Given the description of an element on the screen output the (x, y) to click on. 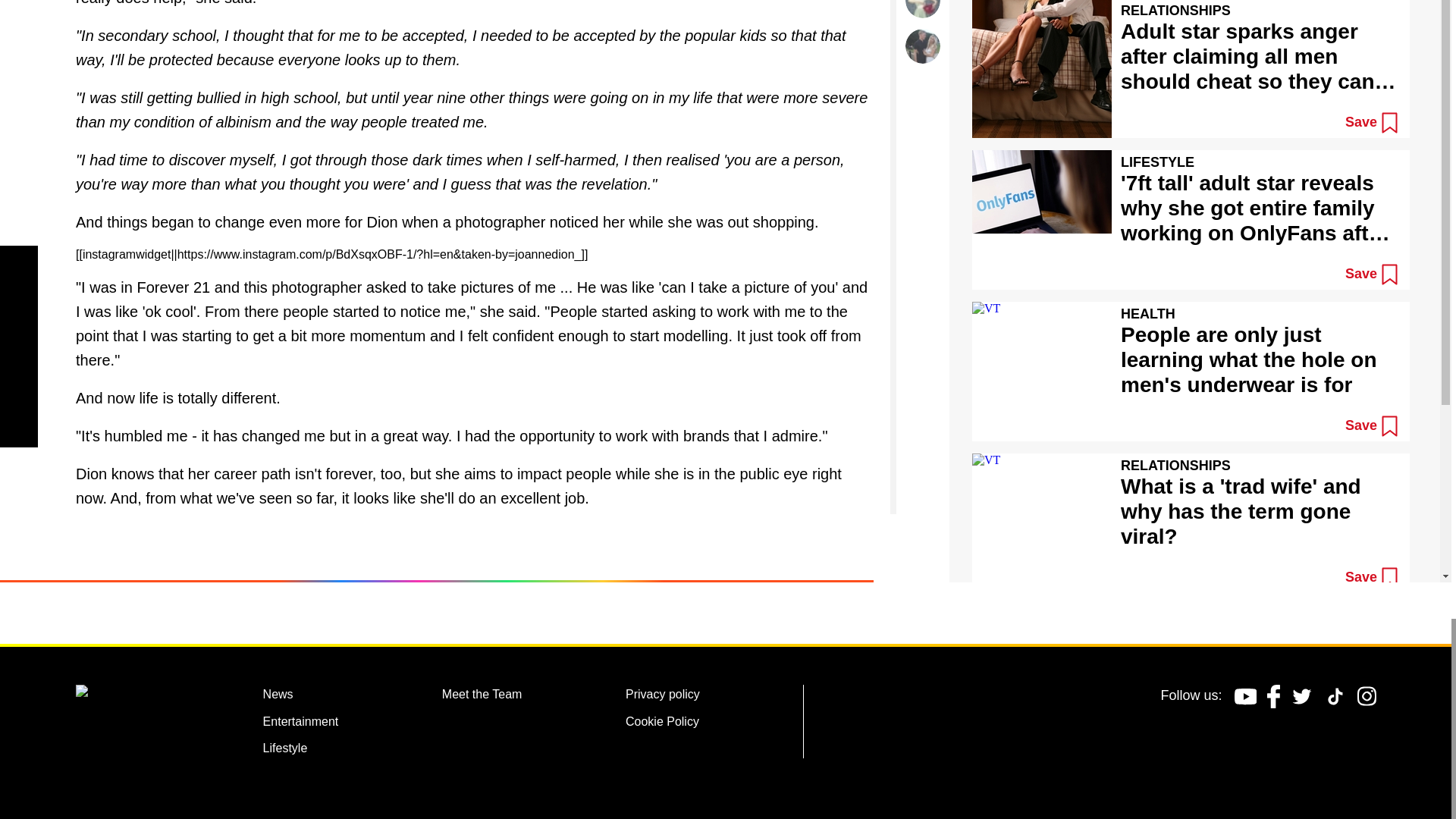
Meet the Team (482, 696)
Entertainment (301, 723)
Lifestyle (285, 750)
News (278, 696)
Privacy policy (663, 696)
Cookie Policy (662, 723)
